Given the description of an element on the screen output the (x, y) to click on. 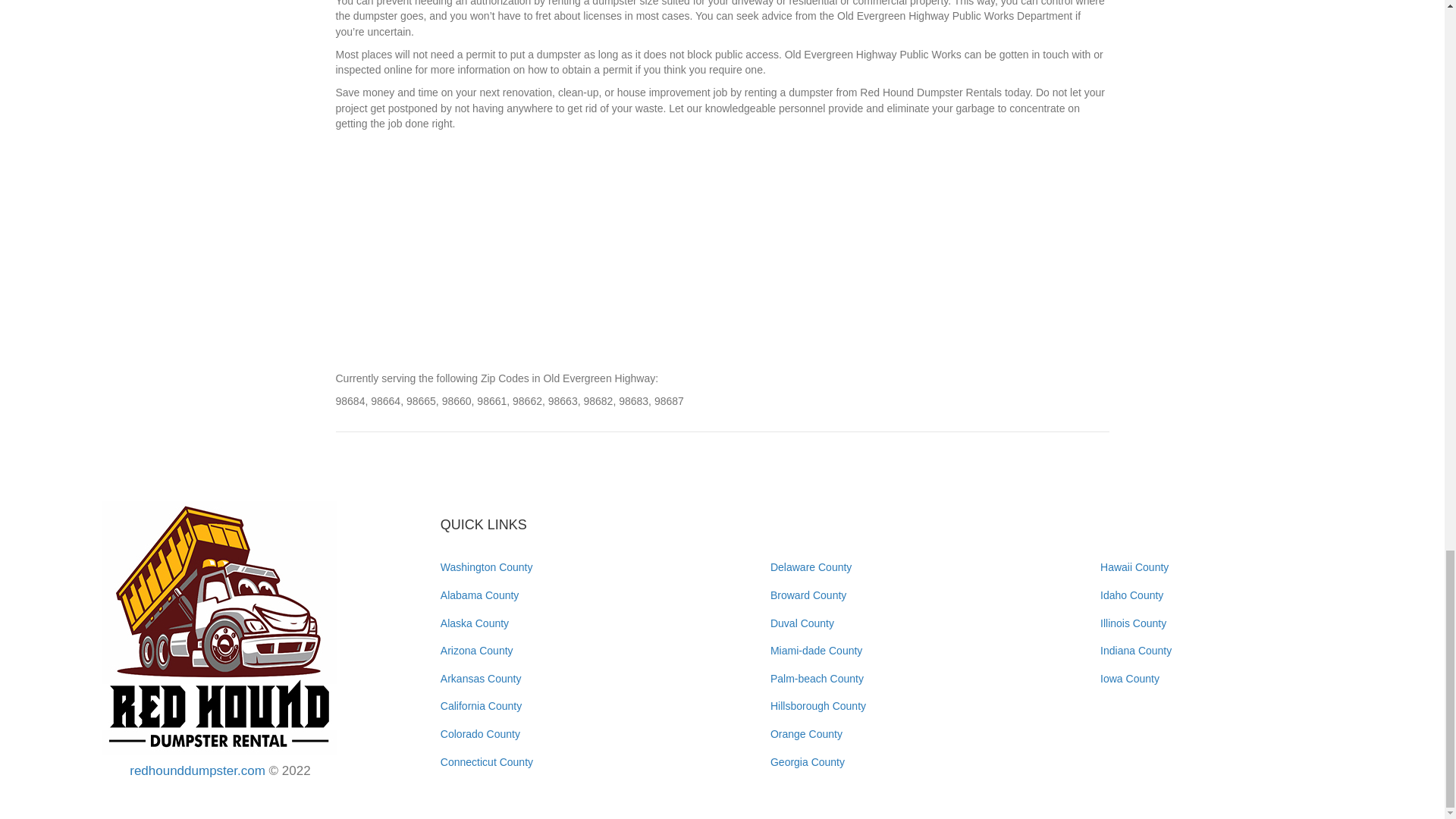
Washington County (486, 567)
redhounddumpster.com (196, 770)
Alabama County (480, 594)
redhounddumpster (219, 627)
